Given the description of an element on the screen output the (x, y) to click on. 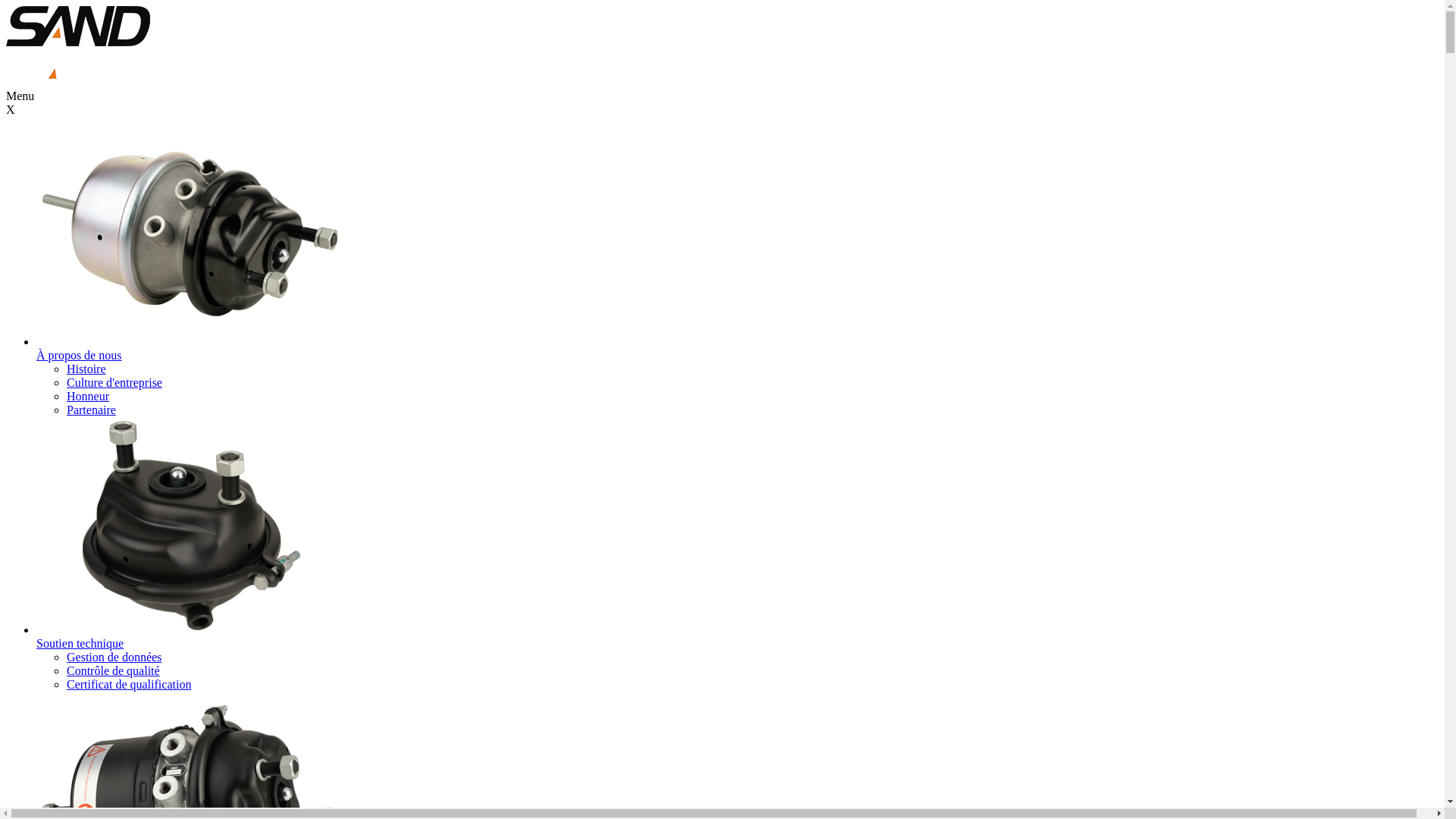
Culture d'entreprise Element type: text (114, 382)
Histoire Element type: text (86, 368)
Soutien technique Element type: text (79, 643)
Partenaire Element type: text (91, 409)
Honneur Element type: text (87, 395)
Certificat de qualification Element type: text (128, 683)
